Given the description of an element on the screen output the (x, y) to click on. 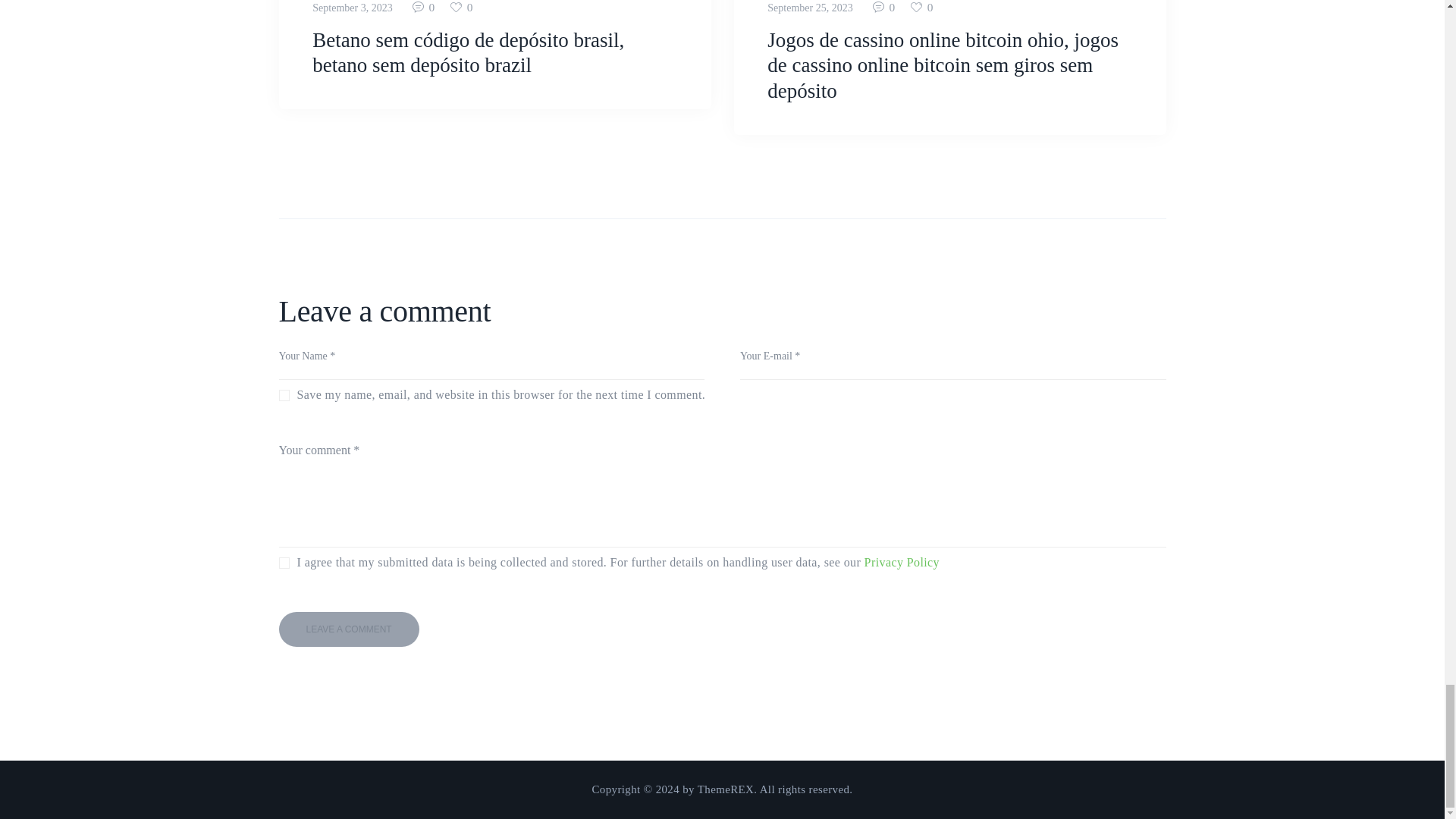
Like (923, 7)
Like (462, 7)
Leave a comment (349, 629)
